Given the description of an element on the screen output the (x, y) to click on. 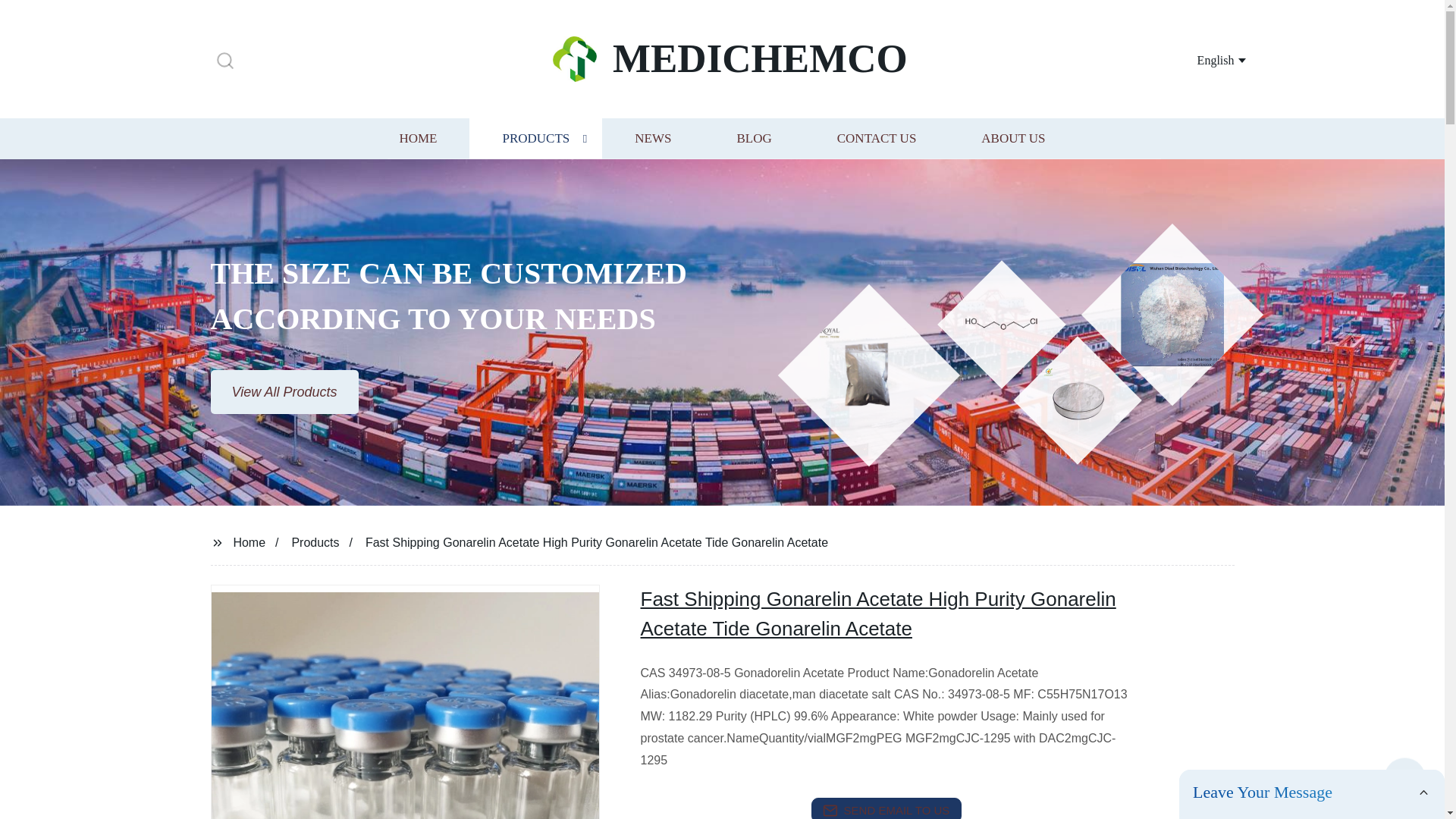
CONTACT US (877, 137)
BLOG (753, 137)
English (1203, 59)
HOME (417, 137)
NEWS (652, 137)
Top (1404, 779)
ABOUT US (1013, 137)
SEND EMAIL TO US (885, 808)
Products (315, 541)
English (1203, 59)
